Given the description of an element on the screen output the (x, y) to click on. 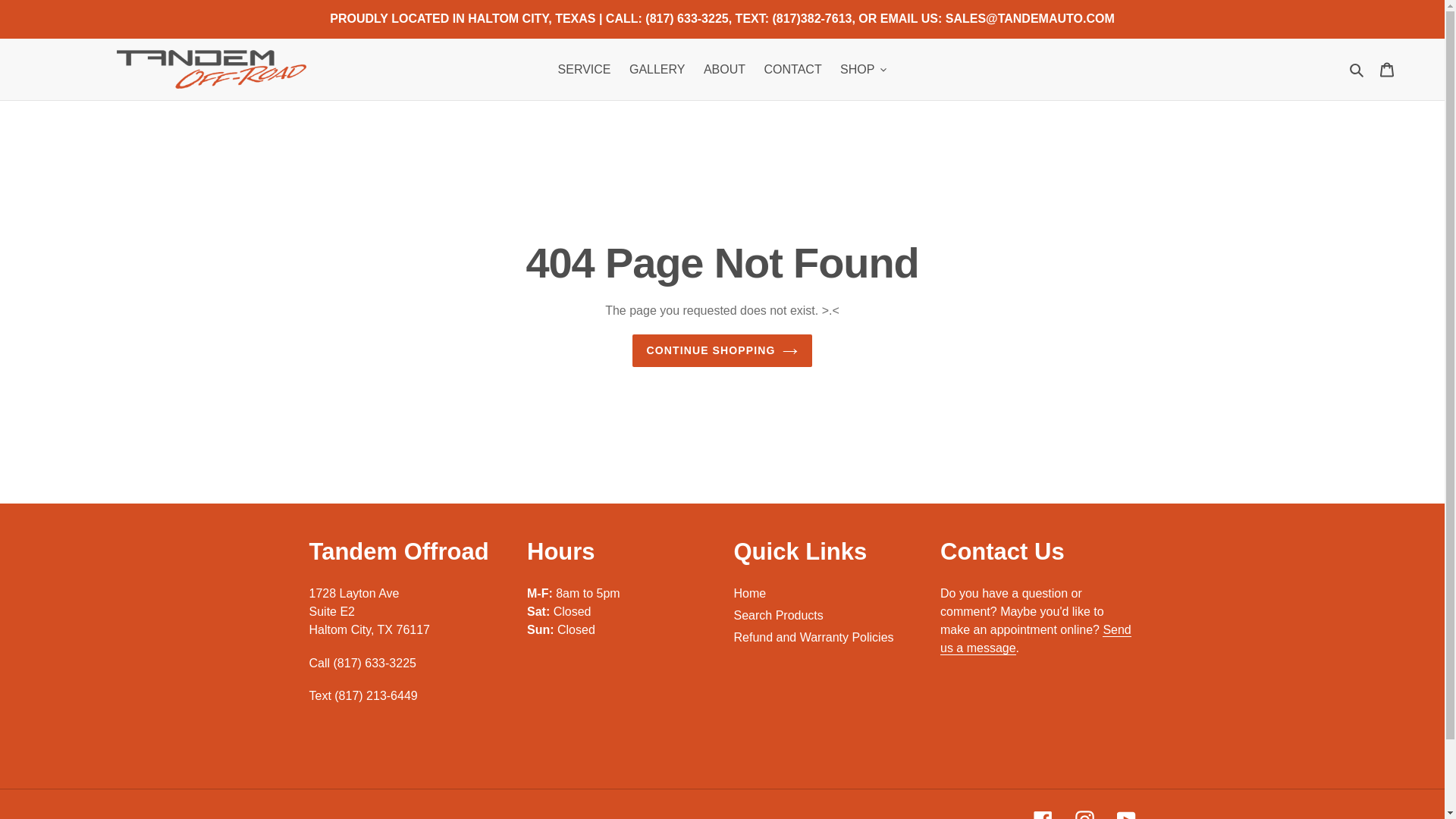
CONTACT (793, 68)
SHOP (862, 68)
Link to contact form (1035, 639)
ABOUT (723, 68)
SERVICE (584, 68)
GALLERY (657, 68)
